Given the description of an element on the screen output the (x, y) to click on. 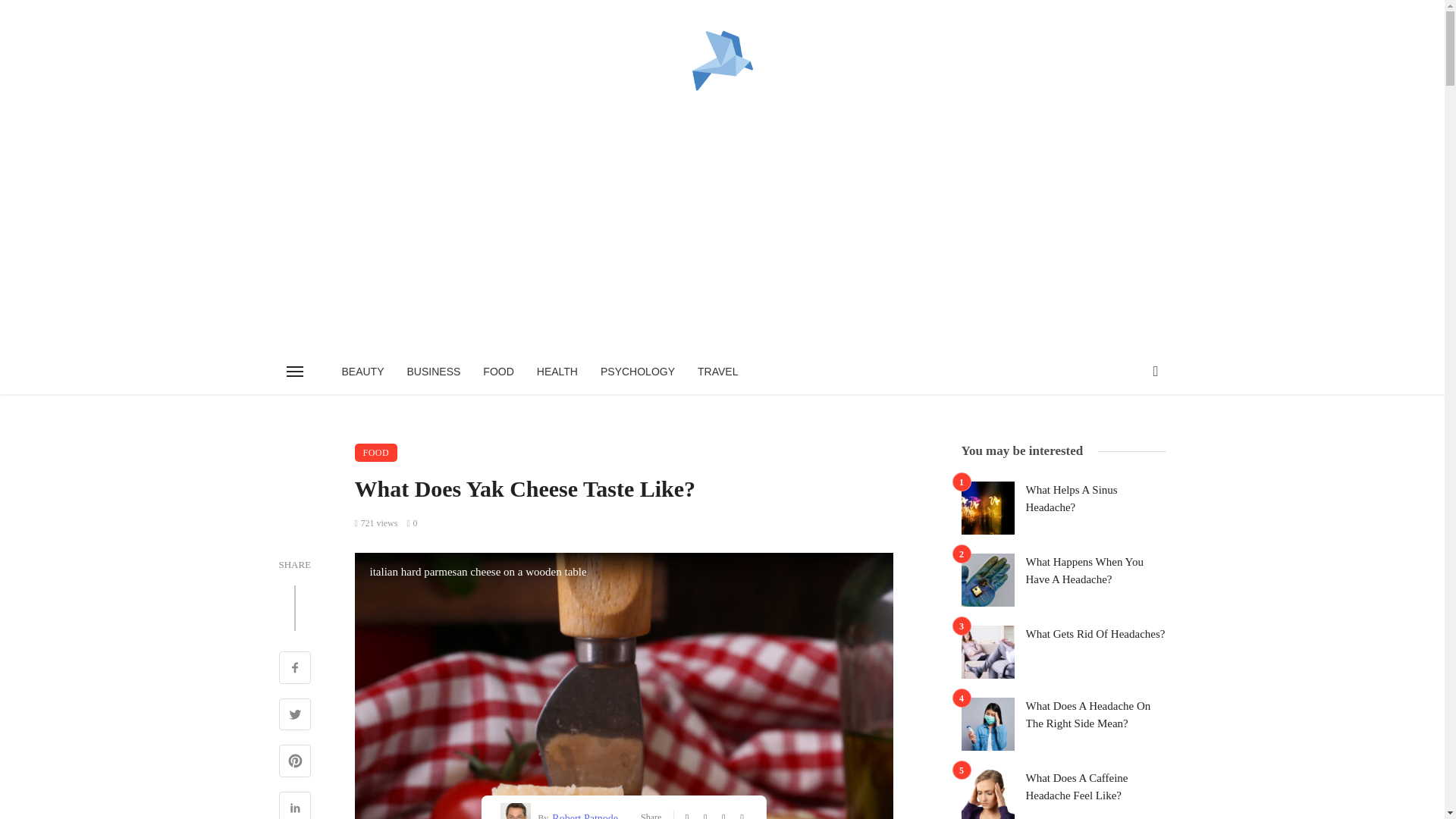
HEALTH (557, 370)
BUSINESS (433, 370)
0 (411, 522)
Share on Twitter (295, 716)
FOOD (376, 452)
FOOD (497, 370)
Posts by Robert Patnode (582, 814)
Robert Patnode (582, 814)
0 Comments (411, 522)
Share on Facebook (295, 669)
